Given the description of an element on the screen output the (x, y) to click on. 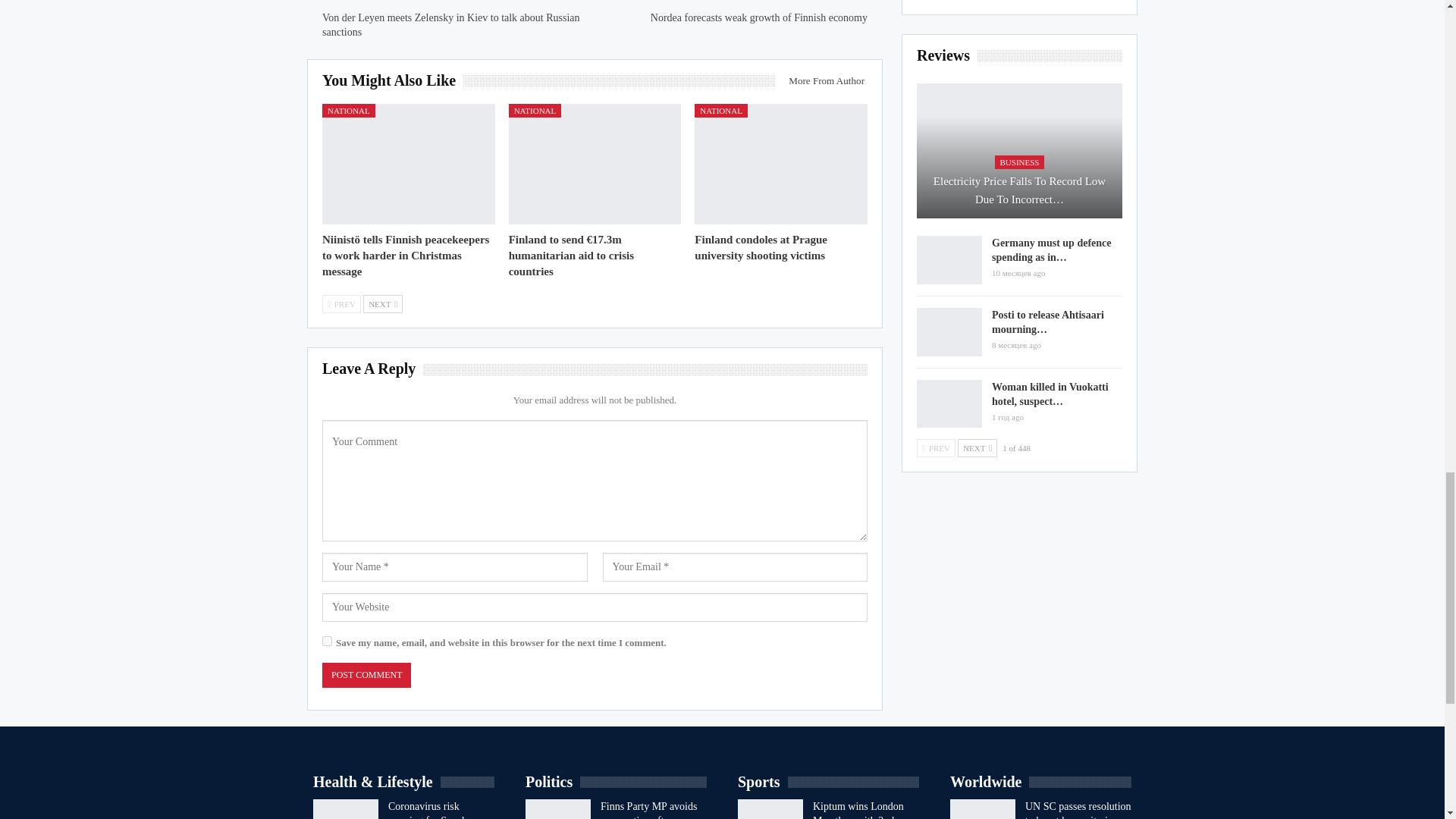
Finland condoles at Prague university shooting victims (760, 247)
Finland condoles at Prague university shooting victims (780, 164)
yes (326, 641)
Post Comment (365, 674)
